Given the description of an element on the screen output the (x, y) to click on. 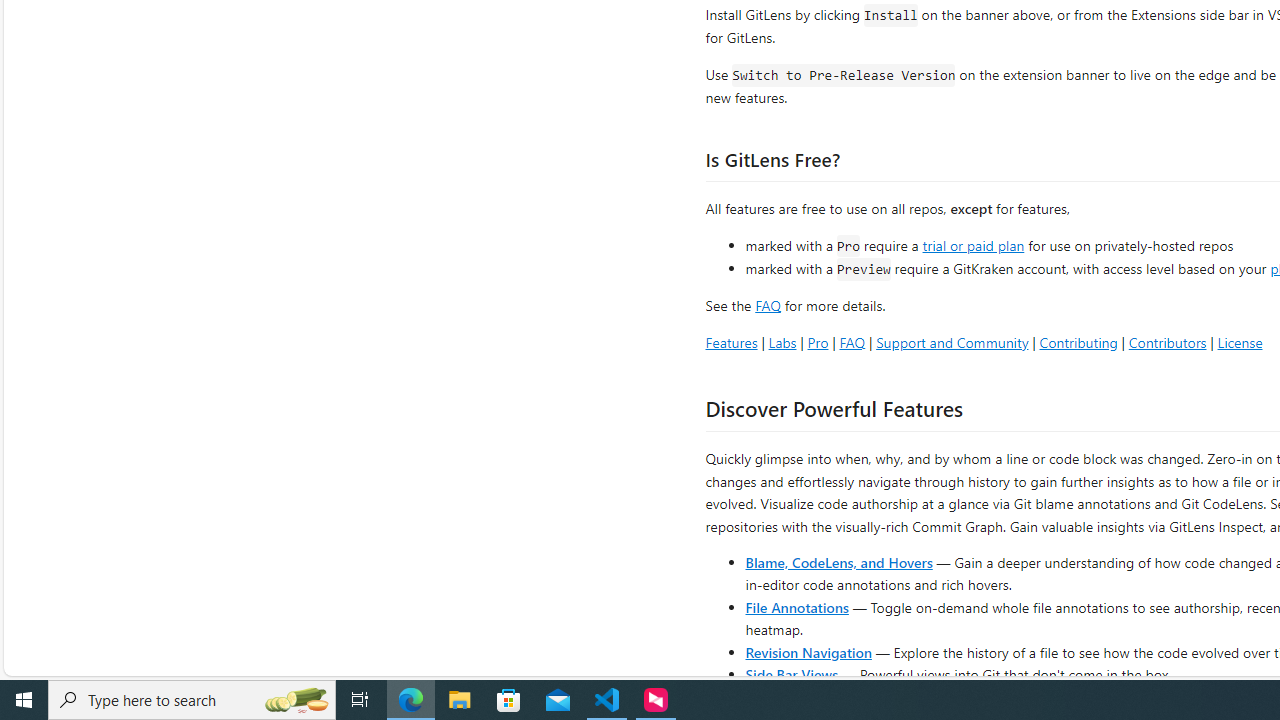
Features (731, 341)
Pro (817, 341)
Side Bar Views (791, 673)
File Annotations (796, 606)
Support and Community (952, 341)
Contributing (1078, 341)
Revision Navigation (807, 651)
License (1240, 341)
Blame, CodeLens, and Hovers (838, 561)
Contributors (1167, 341)
trial or paid plan (973, 244)
Labs (782, 341)
FAQ (852, 341)
